Given the description of an element on the screen output the (x, y) to click on. 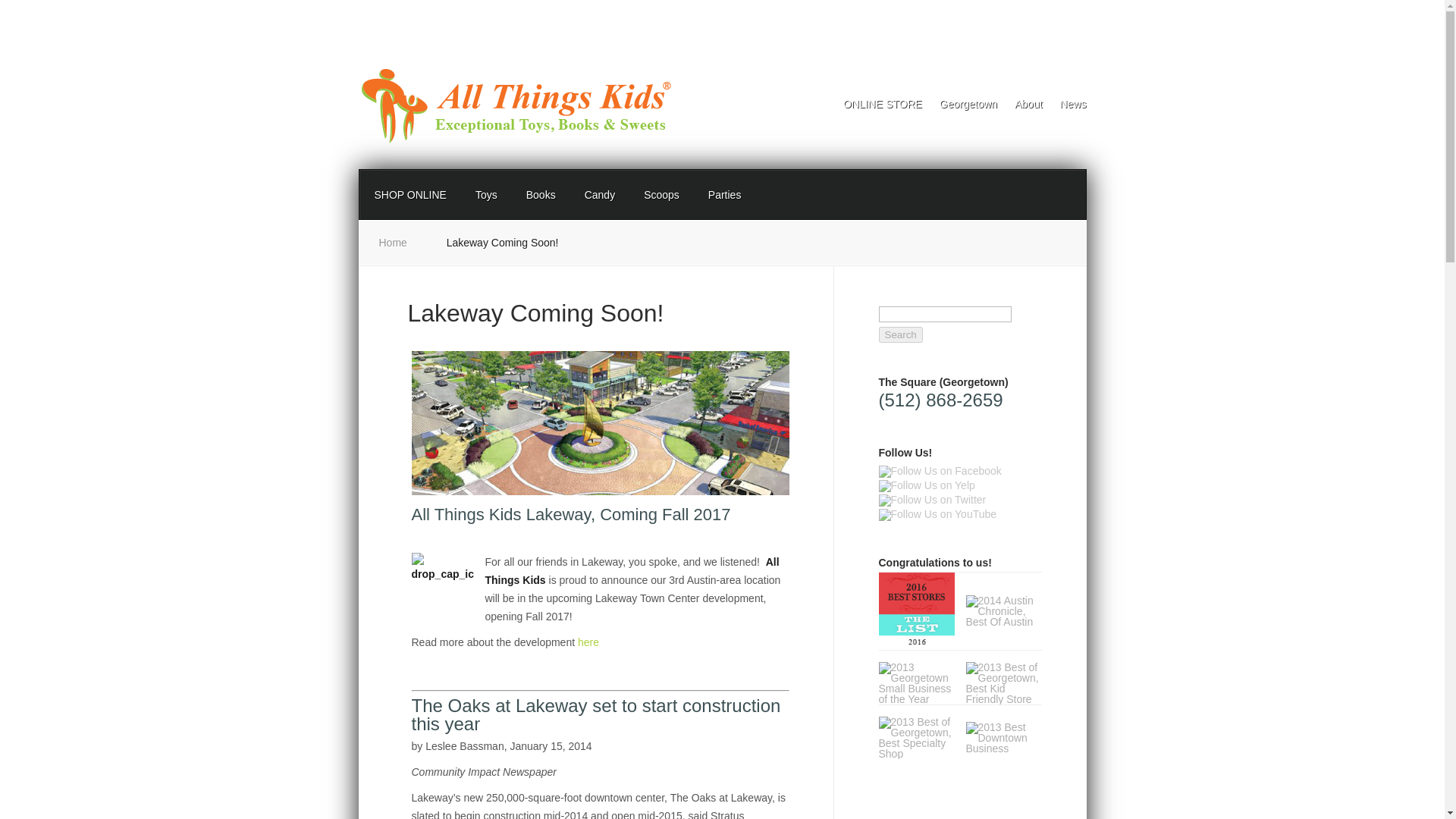
All Things Kids (936, 514)
Books (541, 194)
here (588, 642)
Georgetown (931, 500)
SHOP ONLINE (409, 194)
Parties (724, 194)
Shop online (874, 107)
About (1021, 107)
Georgetown (925, 485)
Search (899, 334)
